Given the description of an element on the screen output the (x, y) to click on. 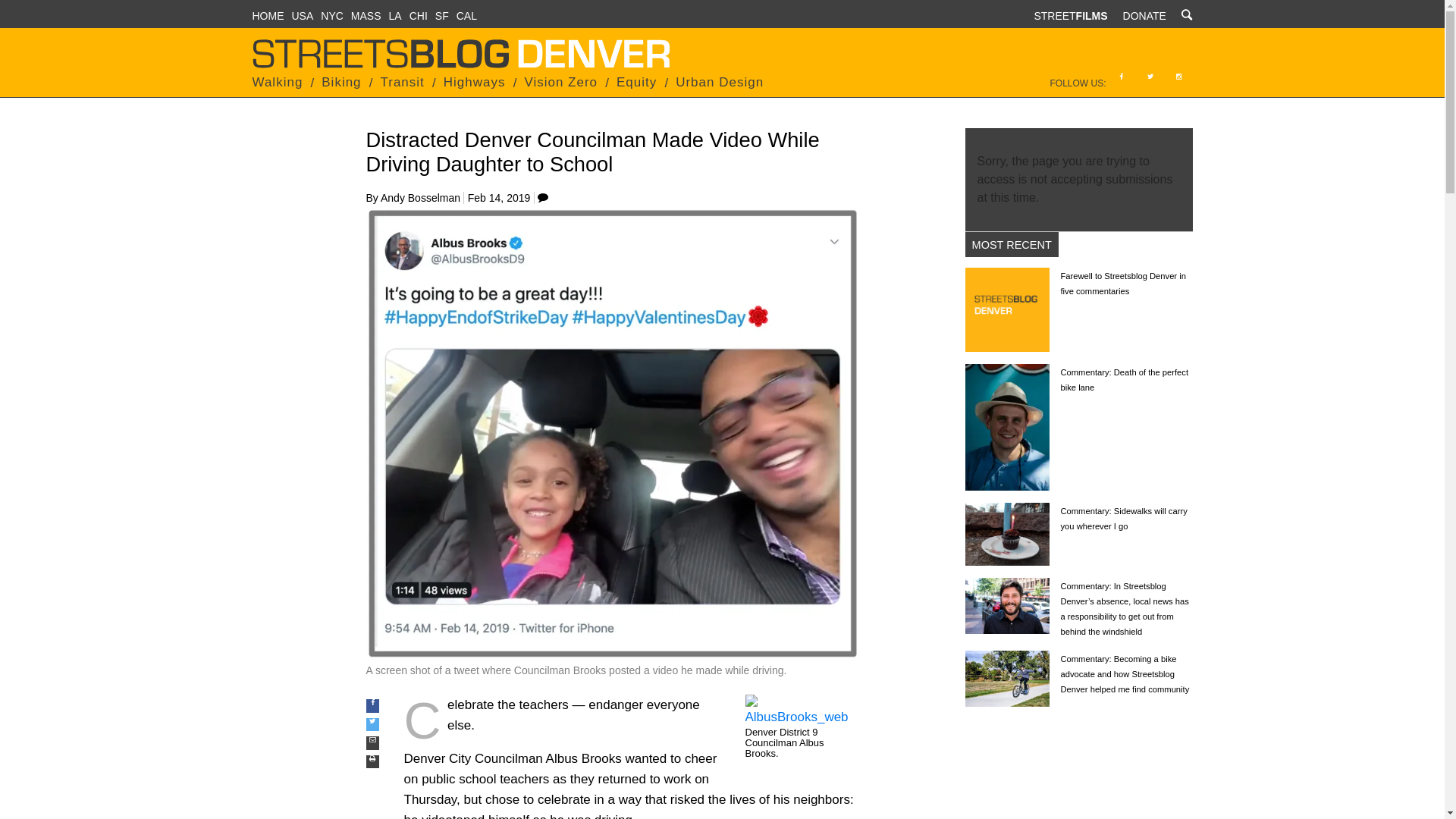
MASS (365, 15)
Commentary: Sidewalks will carry you wherever I go (1005, 533)
CAL (467, 15)
Walking (276, 82)
Highways (474, 82)
Farewell to Streetsblog Denver in five commentaries (1122, 283)
DONATE (1144, 15)
STREETFILMS (1069, 15)
Equity (635, 82)
Urban Design (718, 82)
Feb 14, 2019 (499, 197)
USA (302, 15)
Vision Zero (560, 82)
Andy Bosselman (420, 197)
Commentary: Death of the perfect bike lane (1123, 379)
